Given the description of an element on the screen output the (x, y) to click on. 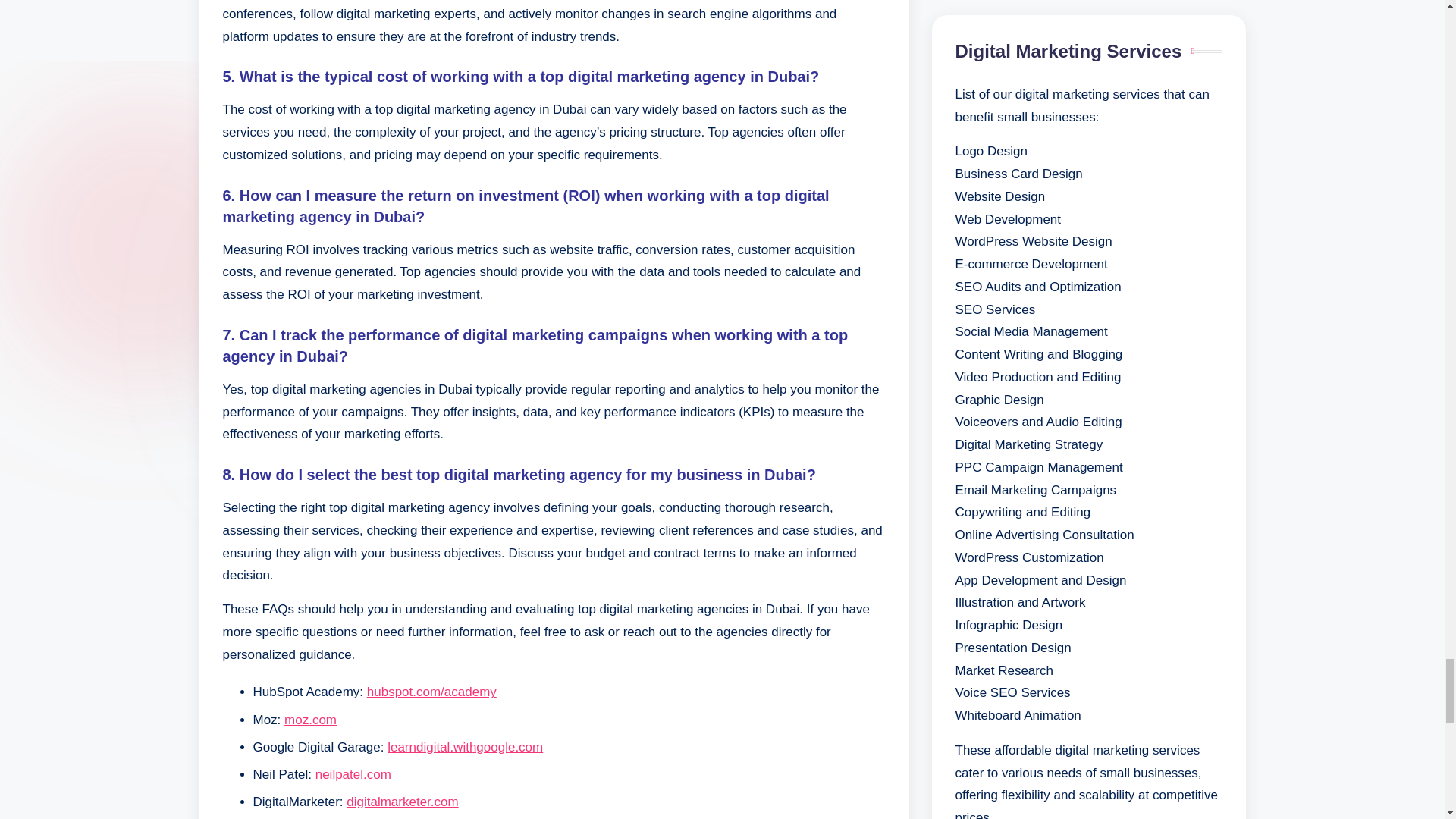
moz.com (309, 719)
neilpatel.com (353, 774)
digitalmarketer.com (402, 801)
learndigital.withgoogle.com (465, 747)
